Given the description of an element on the screen output the (x, y) to click on. 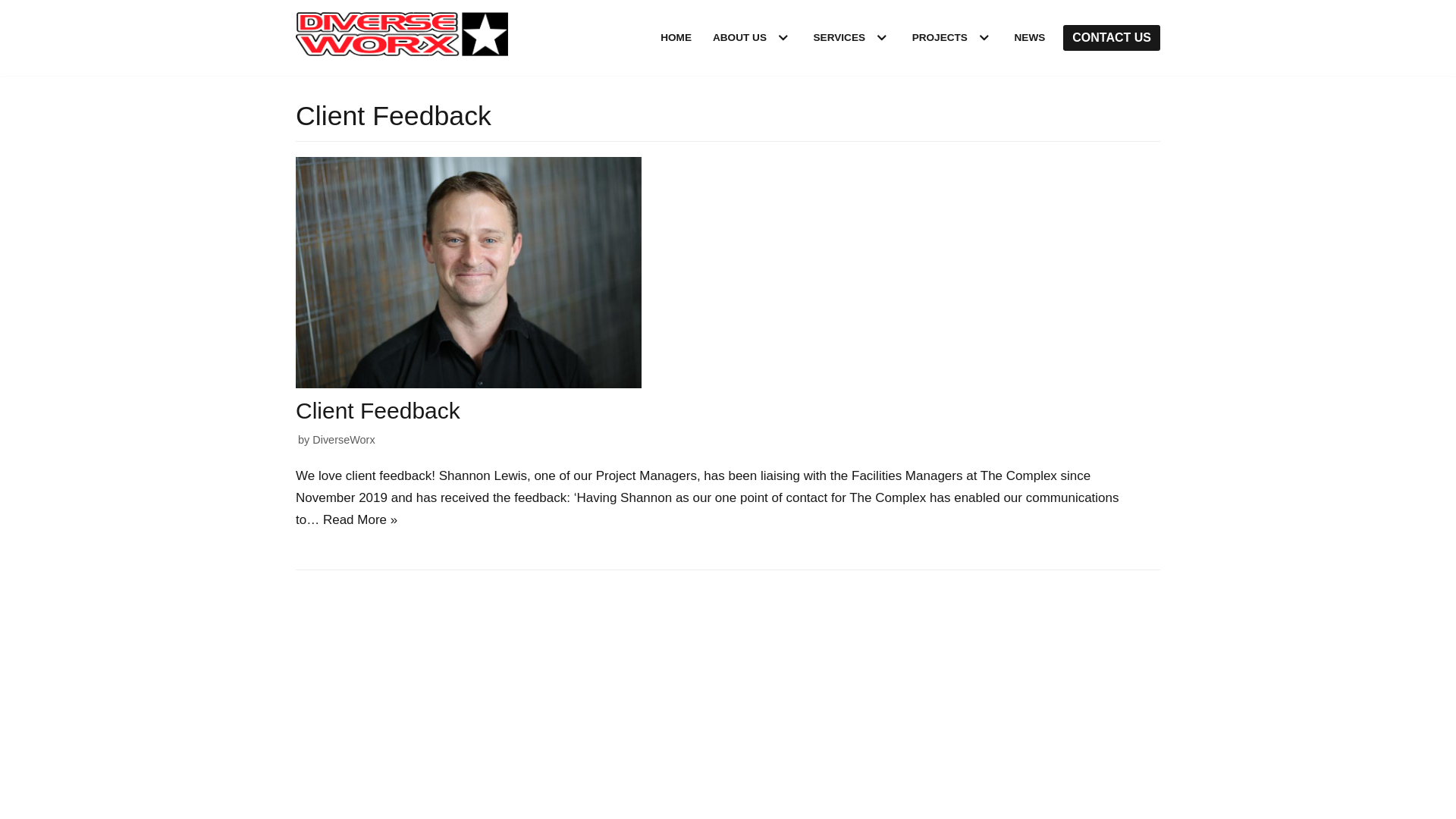
SERVICES Element type: text (839, 37)
HOME Element type: text (675, 37)
CONTACT US Element type: text (1111, 37)
ABOUT US Element type: text (739, 37)
Diverse Worx - Building Maintenance (Brisbane) Element type: hover (401, 37)
Client Feedback Element type: hover (468, 383)
Client Feedback Element type: text (377, 410)
DiverseWorx Element type: text (343, 439)
NEWS Element type: text (1029, 37)
PROJECTS Element type: text (939, 37)
Skip to content Element type: text (15, 7)
